Given the description of an element on the screen output the (x, y) to click on. 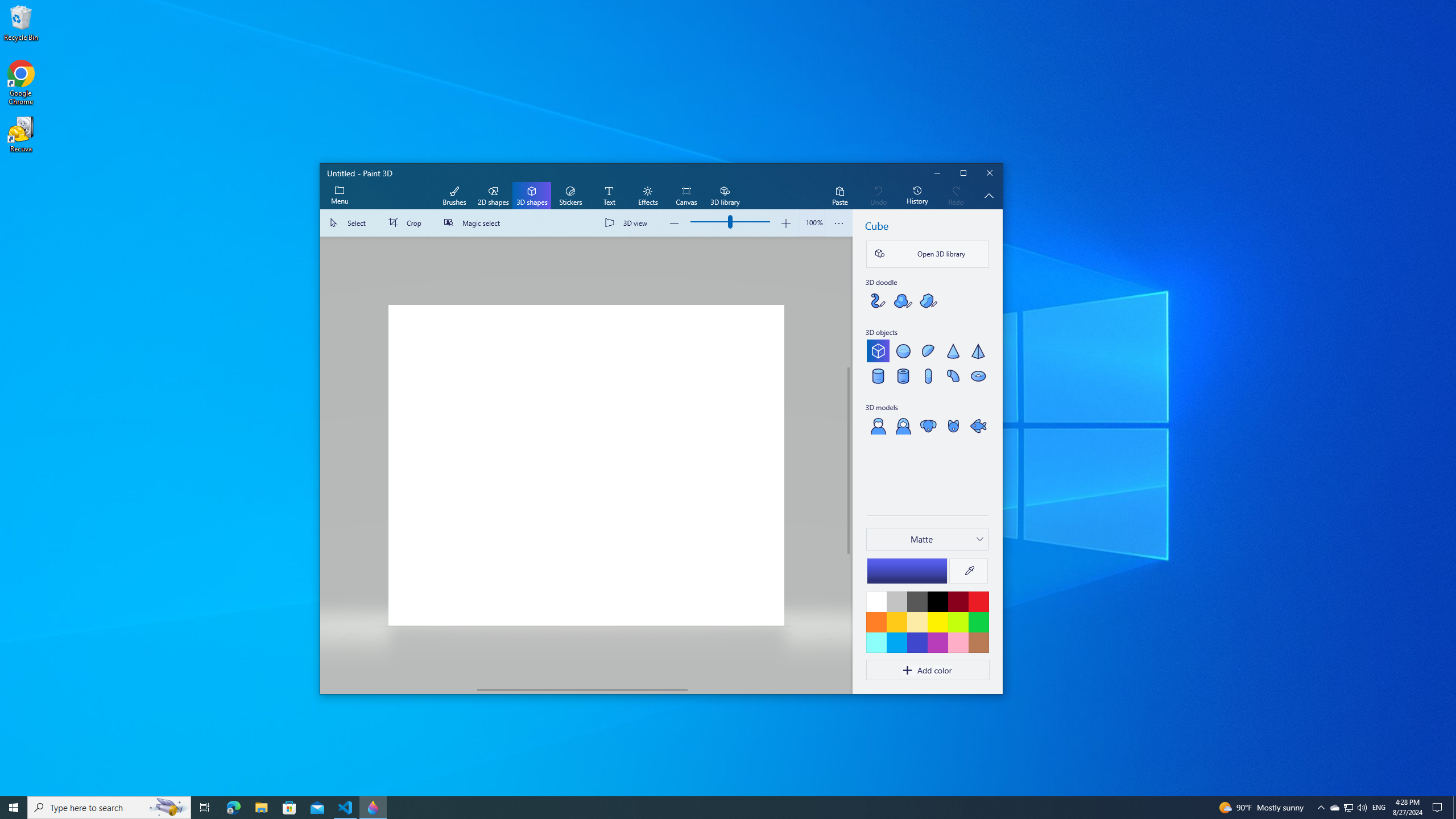
Crop (407, 222)
Eyedropper (968, 570)
Horizontal Large Decrease (398, 689)
Gold (896, 621)
3D view (628, 222)
Matte (921, 538)
2D shapes (492, 195)
Brown (978, 642)
Undo (878, 195)
Sharp edge (928, 300)
Magic select (474, 222)
Cat (952, 425)
Rose (957, 642)
